Given the description of an element on the screen output the (x, y) to click on. 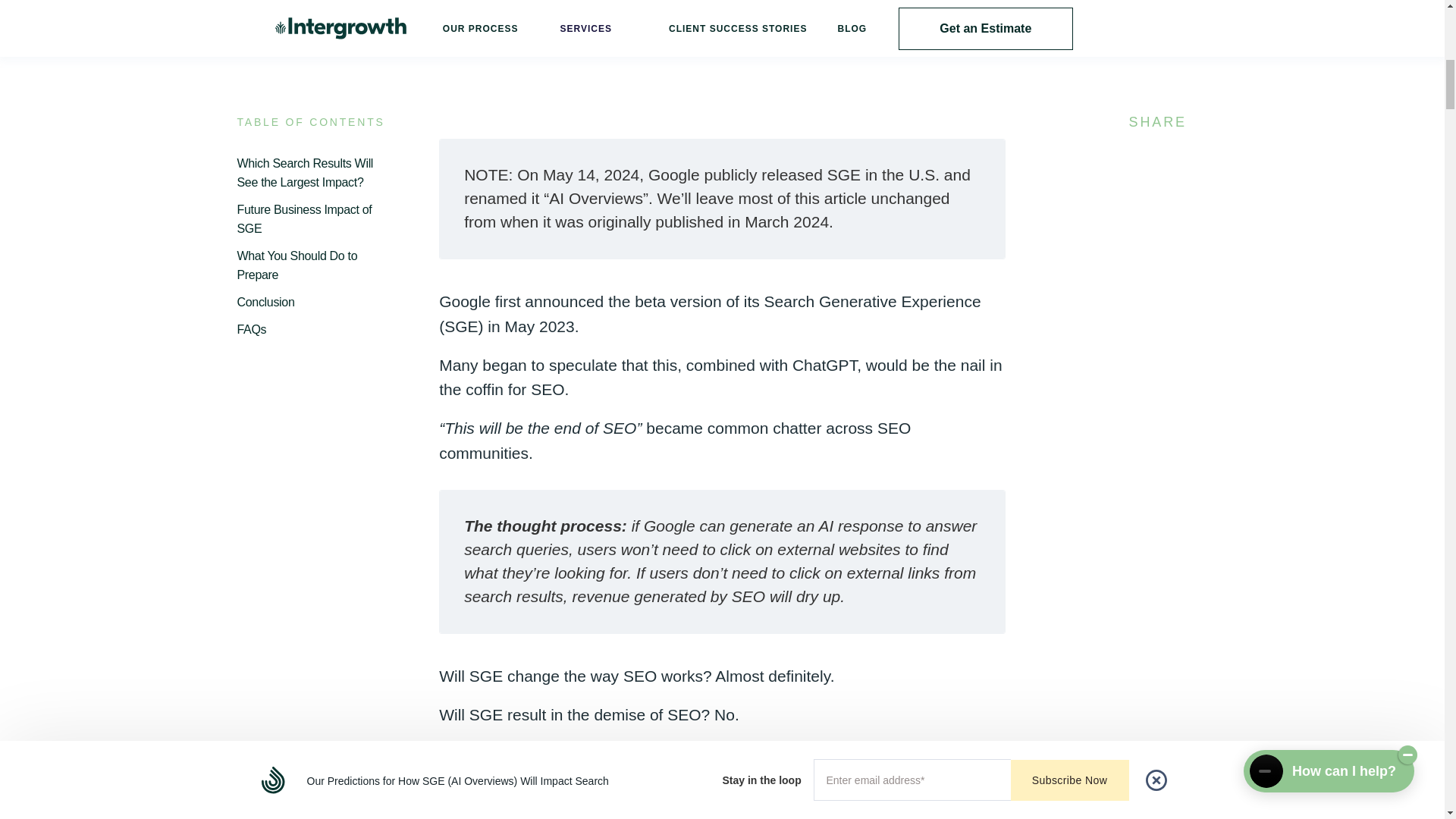
FAQs (314, 330)
What You Should Do to Prepare (314, 266)
Future Business Impact of SGE (314, 219)
Which Search Results Will See the Largest Impact? (314, 173)
Conclusion (314, 302)
